Given the description of an element on the screen output the (x, y) to click on. 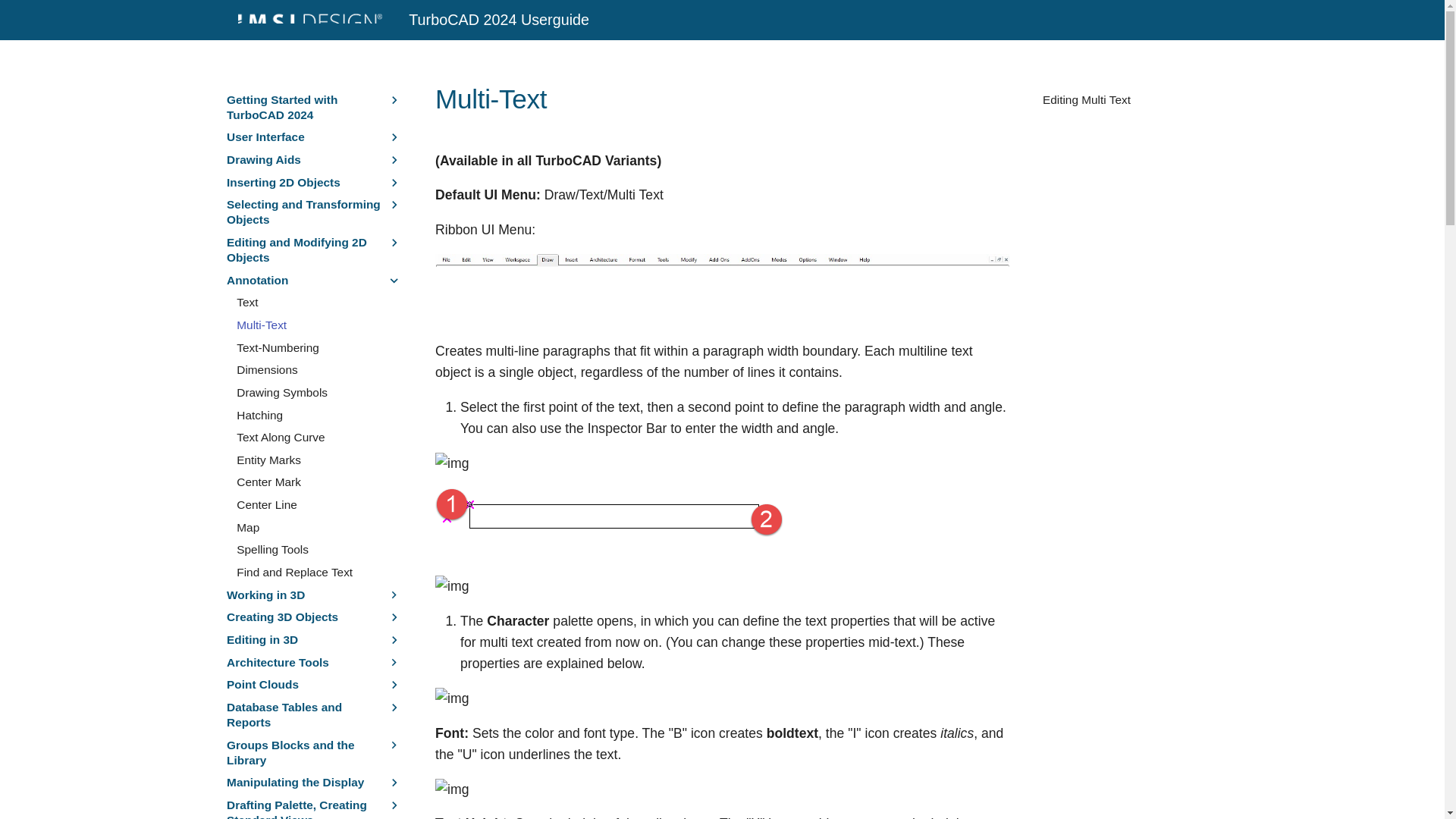
User Interface (307, 136)
Drawing Aids (307, 159)
Editing Multi Text (1129, 96)
TurboCAD 2024 Userguide (303, 19)
Getting Started with TurboCAD 2024 (307, 107)
